Given the description of an element on the screen output the (x, y) to click on. 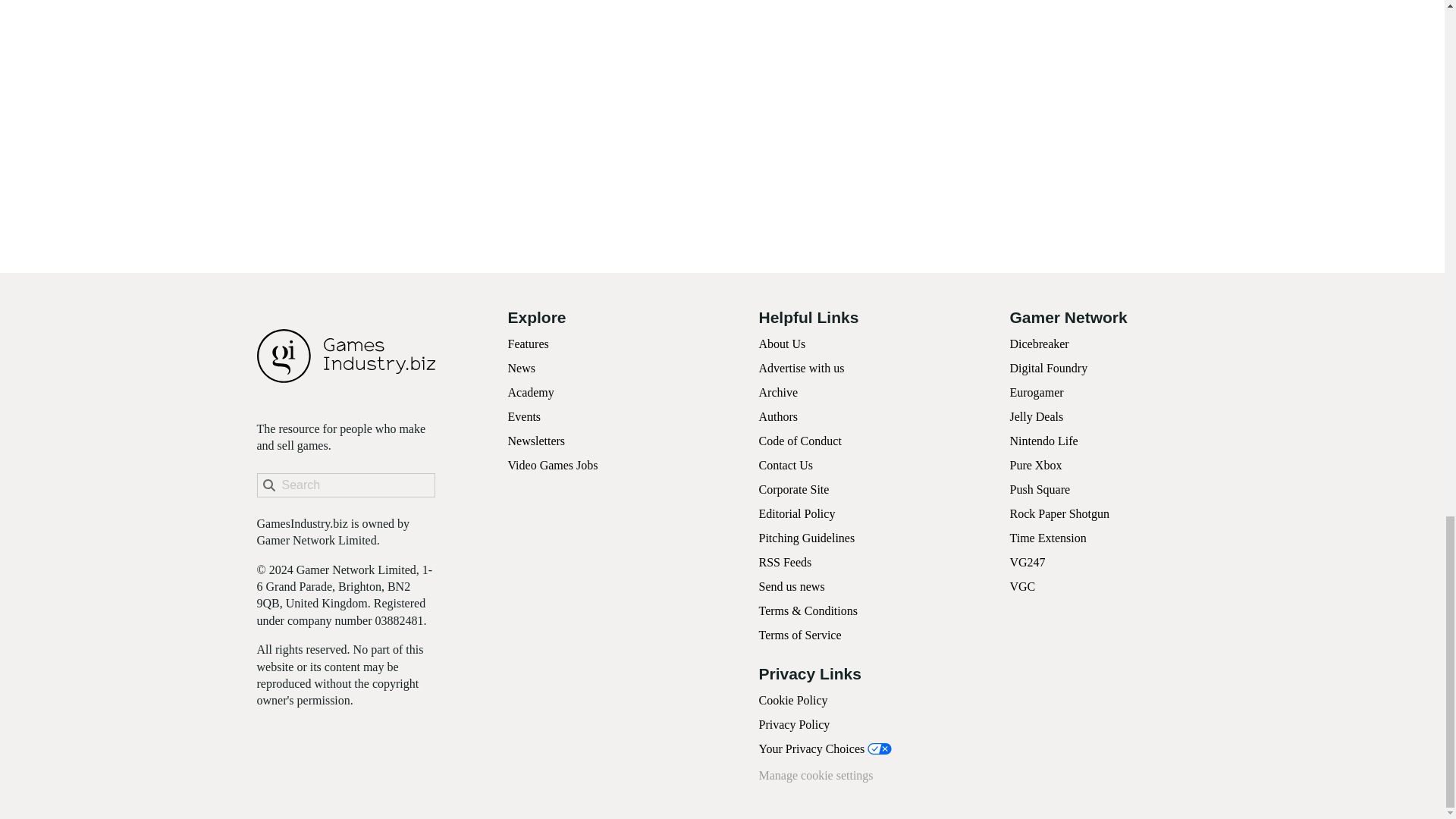
Video Games Jobs (553, 464)
Advertise with us (801, 367)
News (521, 367)
Newsletters (537, 440)
Code of Conduct (799, 440)
Archive (777, 391)
Academy (531, 391)
Features (528, 343)
Video Games Jobs (553, 464)
About Us (781, 343)
Events (524, 416)
Code of Conduct (799, 440)
Archive (777, 391)
Authors (777, 416)
Newsletters (537, 440)
